Given the description of an element on the screen output the (x, y) to click on. 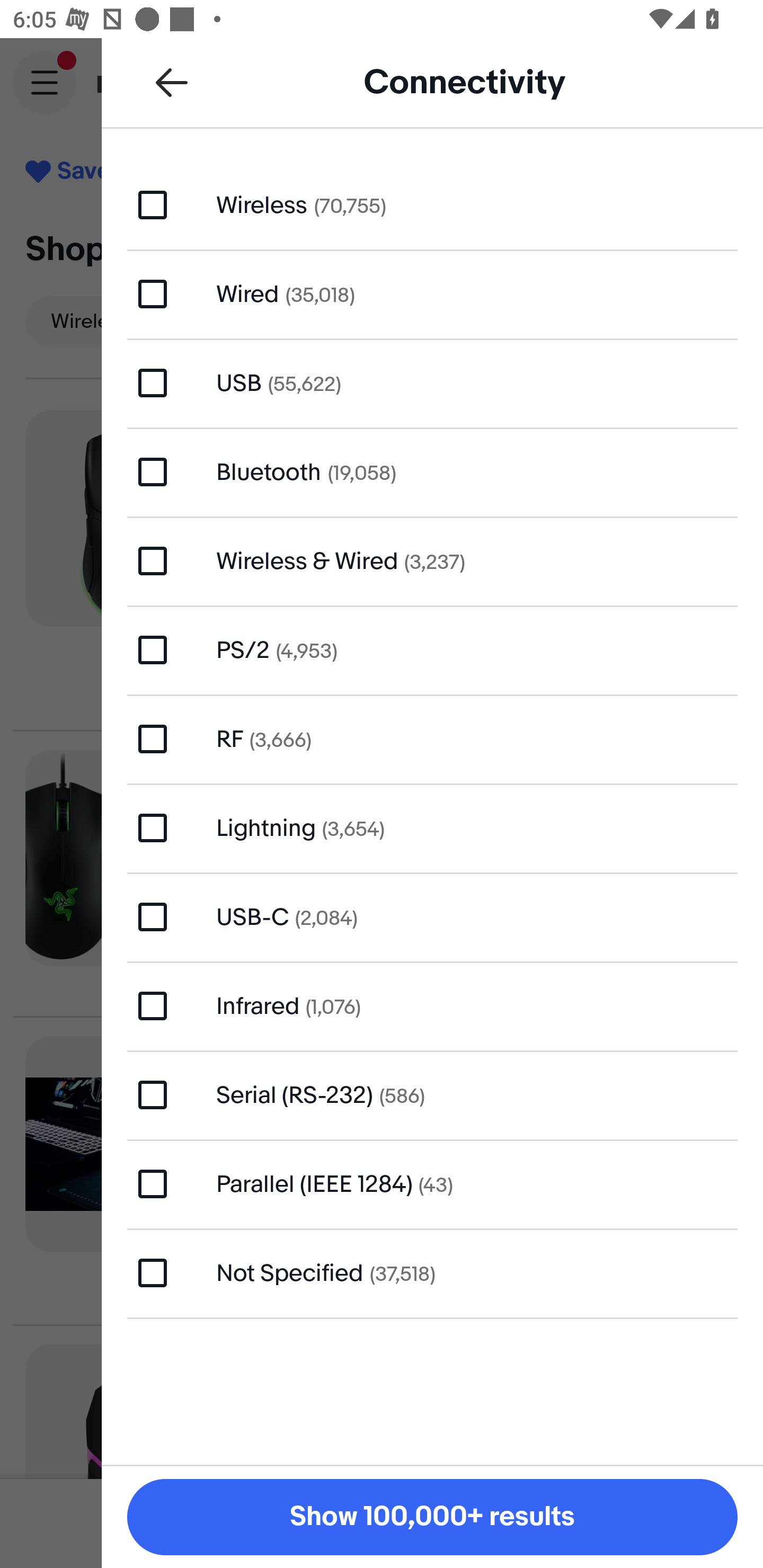
Back to all refinements (171, 81)
Wireless (70,755) (432, 204)
Wired (35,018) (432, 293)
USB (55,622) (432, 383)
Bluetooth (19,058) (432, 471)
Wireless & Wired (3,237) (432, 560)
PS/2 (4,953) (432, 649)
RF (3,666) (432, 739)
Lightning (3,654) (432, 827)
USB-C (2,084) (432, 916)
Infrared (1,076) (432, 1005)
Serial (RS-232) (586) (432, 1094)
Parallel (IEEE 1284) (43) (432, 1183)
Not Specified (37,518) (432, 1272)
Show 100,000+ results (432, 1516)
